Given the description of an element on the screen output the (x, y) to click on. 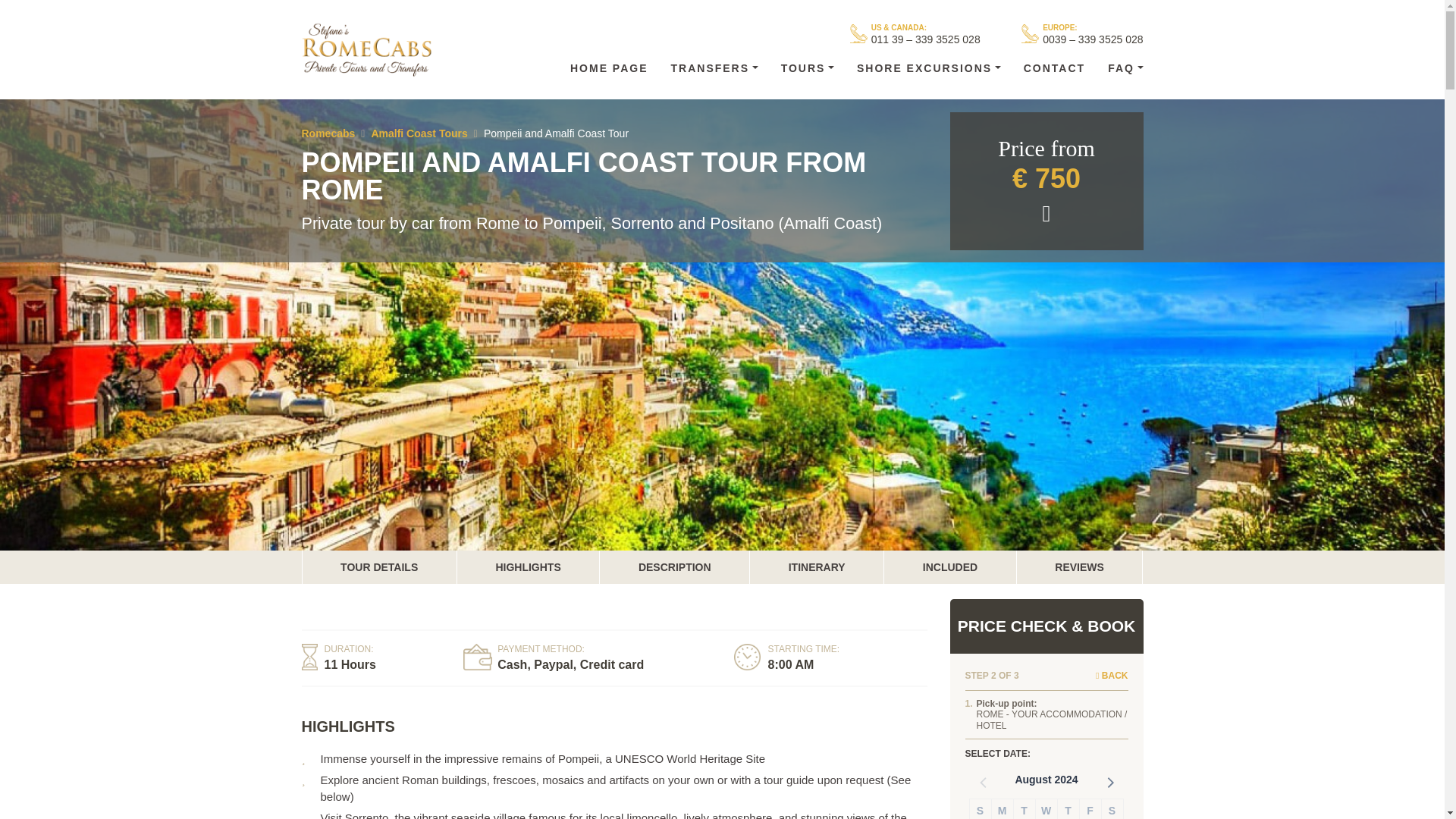
DESCRIPTION (674, 566)
REVIEWS (1079, 566)
Romecabs (328, 133)
TRANSFERS (714, 68)
Amalfi Coast Tours (419, 133)
INCLUDED (949, 566)
FAQ (1125, 68)
TOUR DETAILS (378, 566)
HOME PAGE (609, 68)
HIGHLIGHTS (528, 566)
CONTACT (1053, 68)
TOURS (807, 68)
SHORE EXCURSIONS (928, 68)
ITINERARY (816, 566)
